Given the description of an element on the screen output the (x, y) to click on. 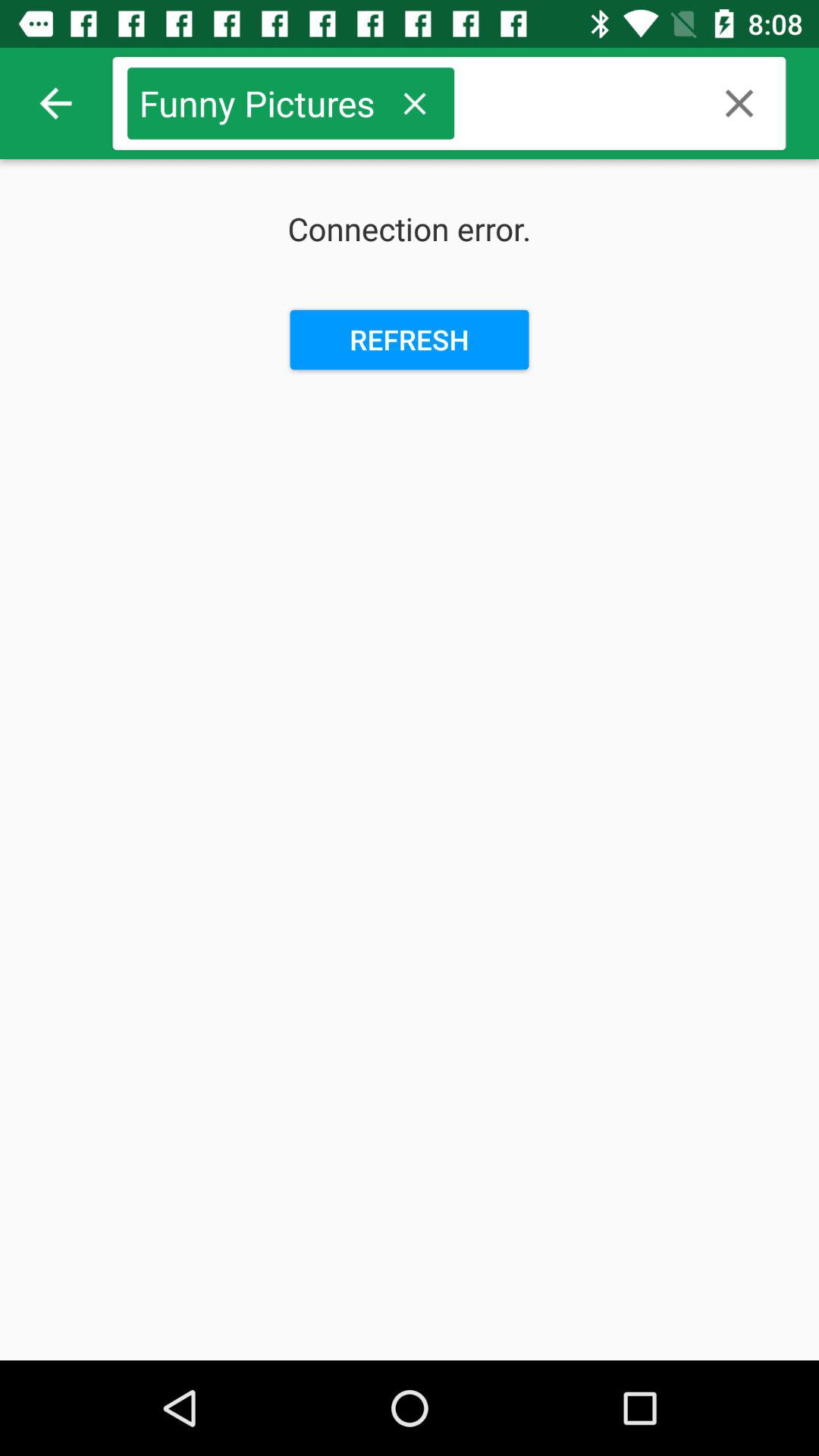
choose item to the right of the funny pictures icon (414, 103)
